Given the description of an element on the screen output the (x, y) to click on. 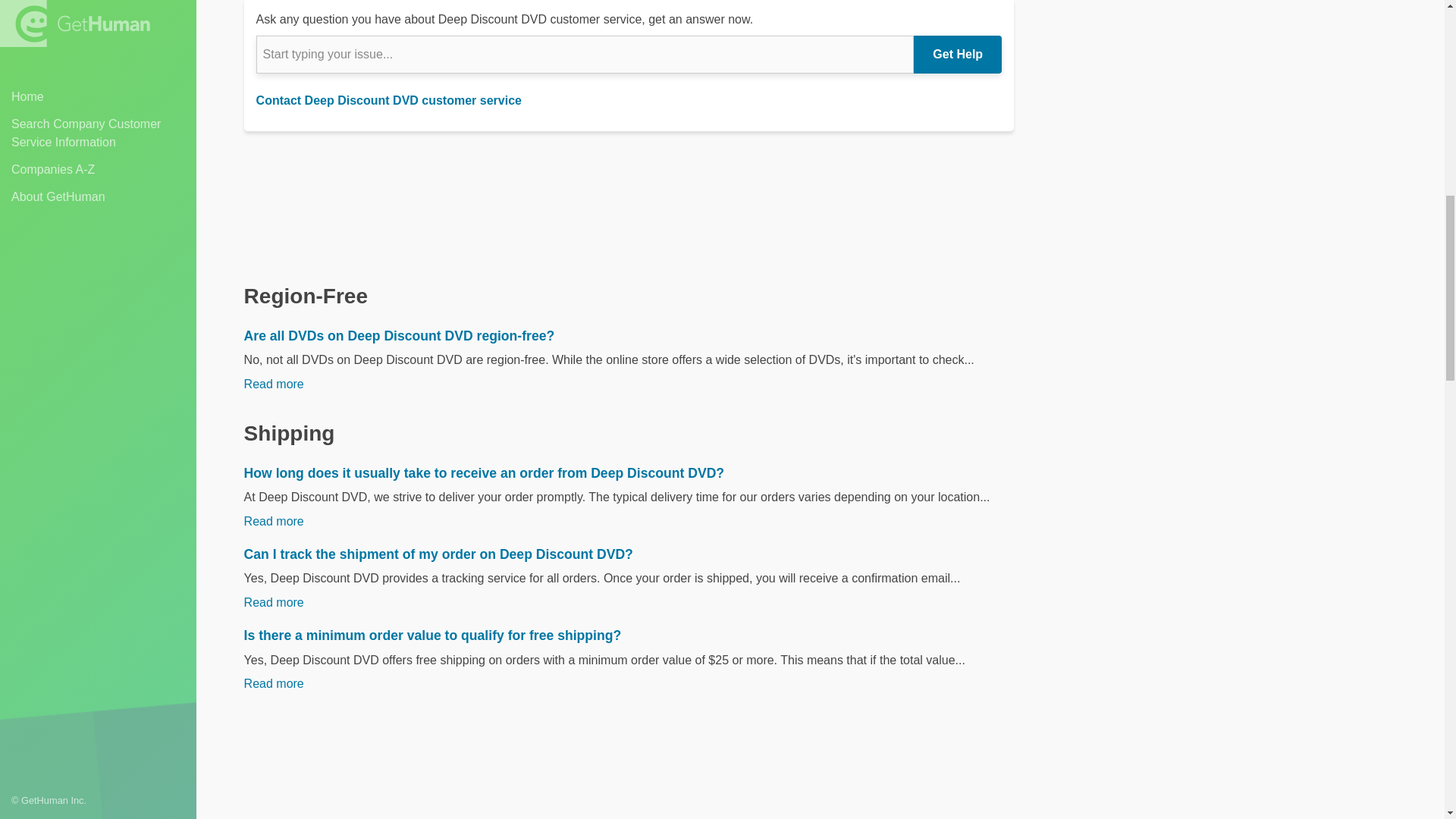
Read more (274, 683)
Read more (274, 602)
Can I track the shipment of my order on Deep Discount DVD? (629, 554)
Advertisement (1238, 132)
Read more (274, 383)
Are all DVDs on Deep Discount DVD region-free? (629, 335)
Read more (274, 29)
Is there a minimum order value to qualify for free shipping? (629, 635)
Read more (274, 521)
